Given the description of an element on the screen output the (x, y) to click on. 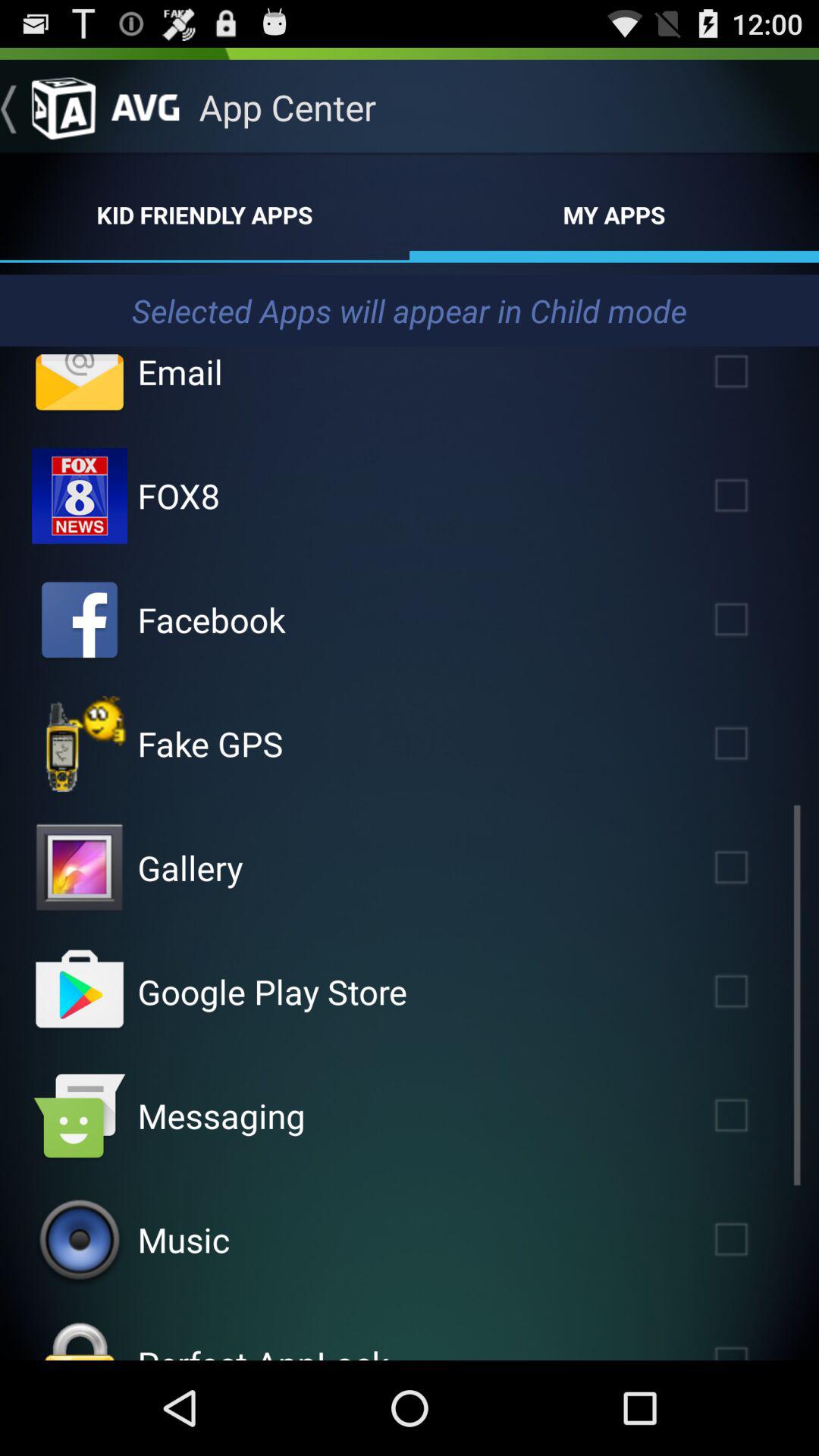
jump until the google play store (272, 991)
